Given the description of an element on the screen output the (x, y) to click on. 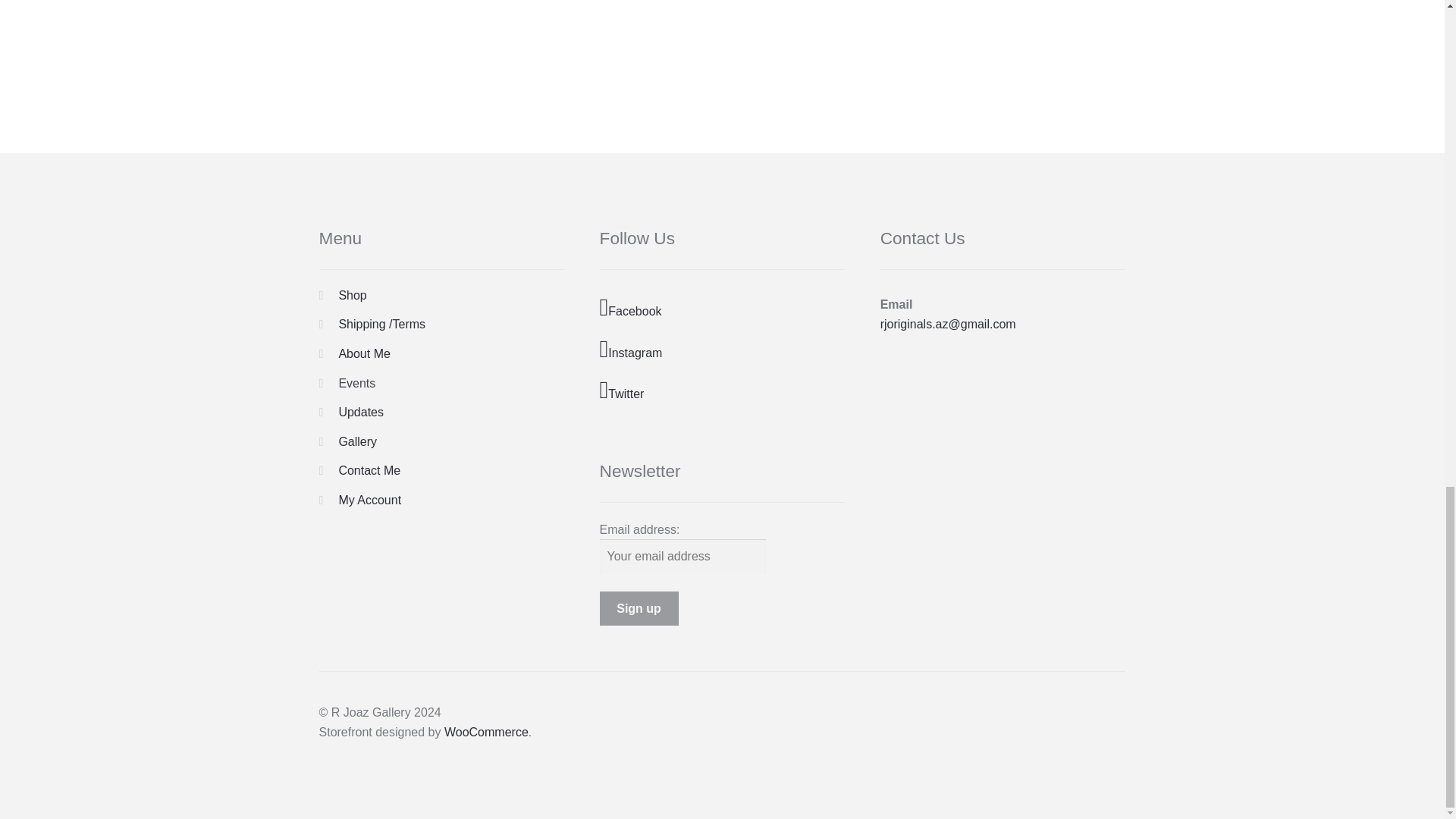
Visit R Joaz Gallery on Instagram (722, 349)
Sign up (638, 608)
Visit R Joaz Gallery on Twitter (722, 390)
Shop (351, 295)
WooCommerce - The Best eCommerce Platform for WordPress (486, 731)
Visit R Joaz Gallery on Facebook (722, 307)
